Given the description of an element on the screen output the (x, y) to click on. 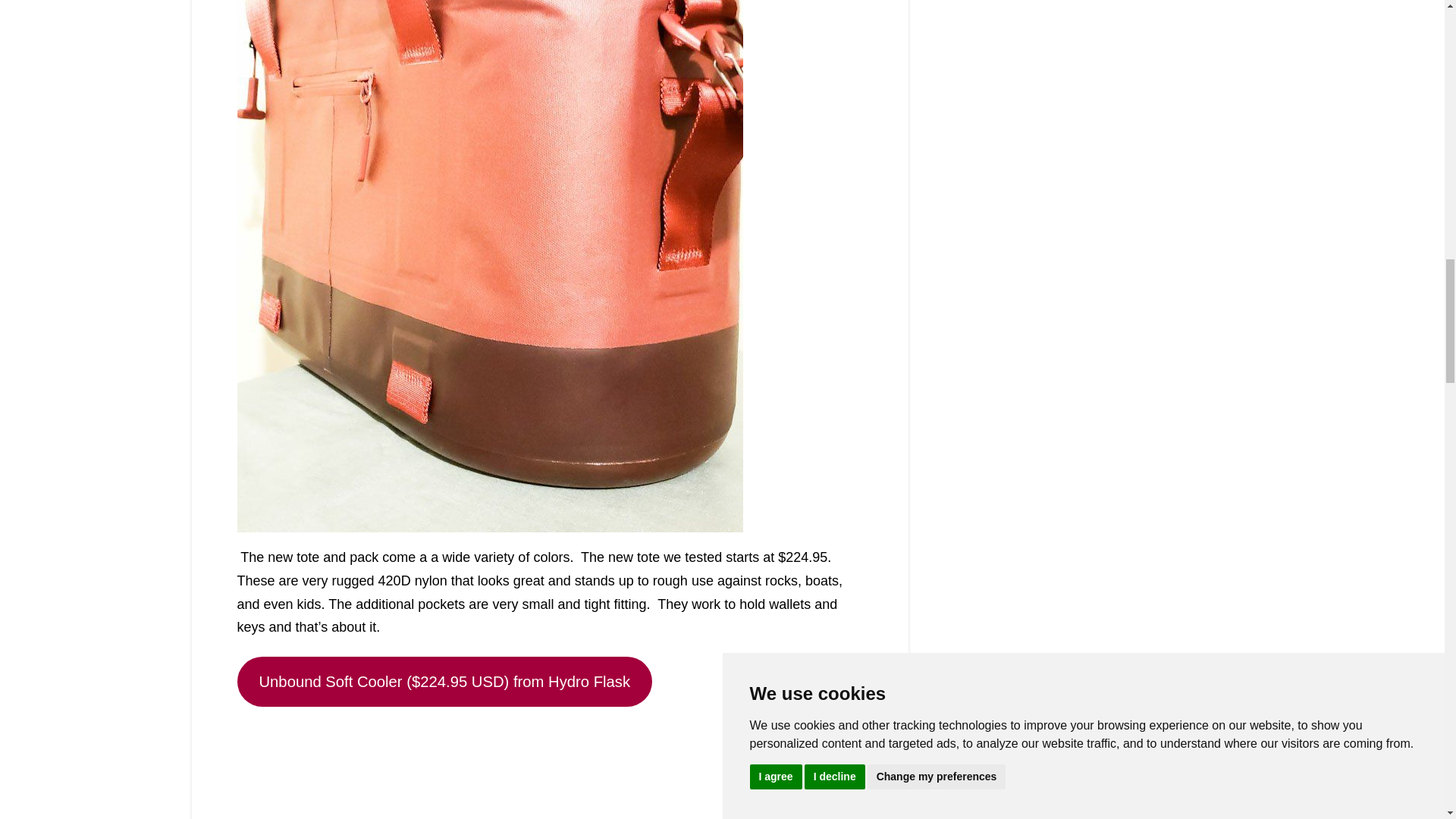
Hydro Flask Soft Cooler Product Video (549, 766)
